Given the description of an element on the screen output the (x, y) to click on. 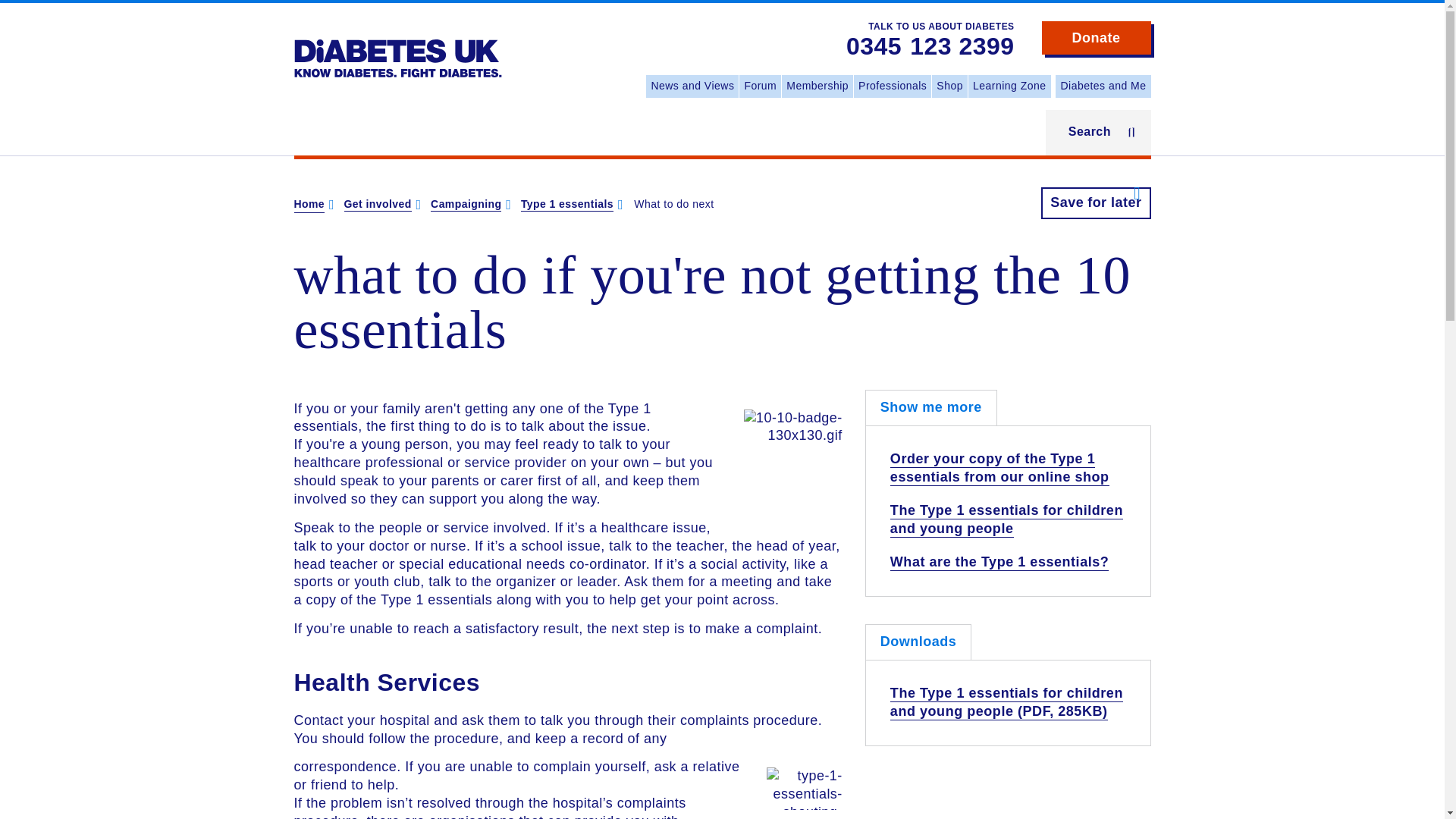
Shop (949, 86)
Search (1098, 132)
0345123 2399 (929, 46)
The Type 1 essentials for children and young people (1005, 519)
Forum (759, 86)
News and Views (692, 86)
Donate (1096, 37)
Get involved (377, 204)
Professionals (892, 86)
